Given the description of an element on the screen output the (x, y) to click on. 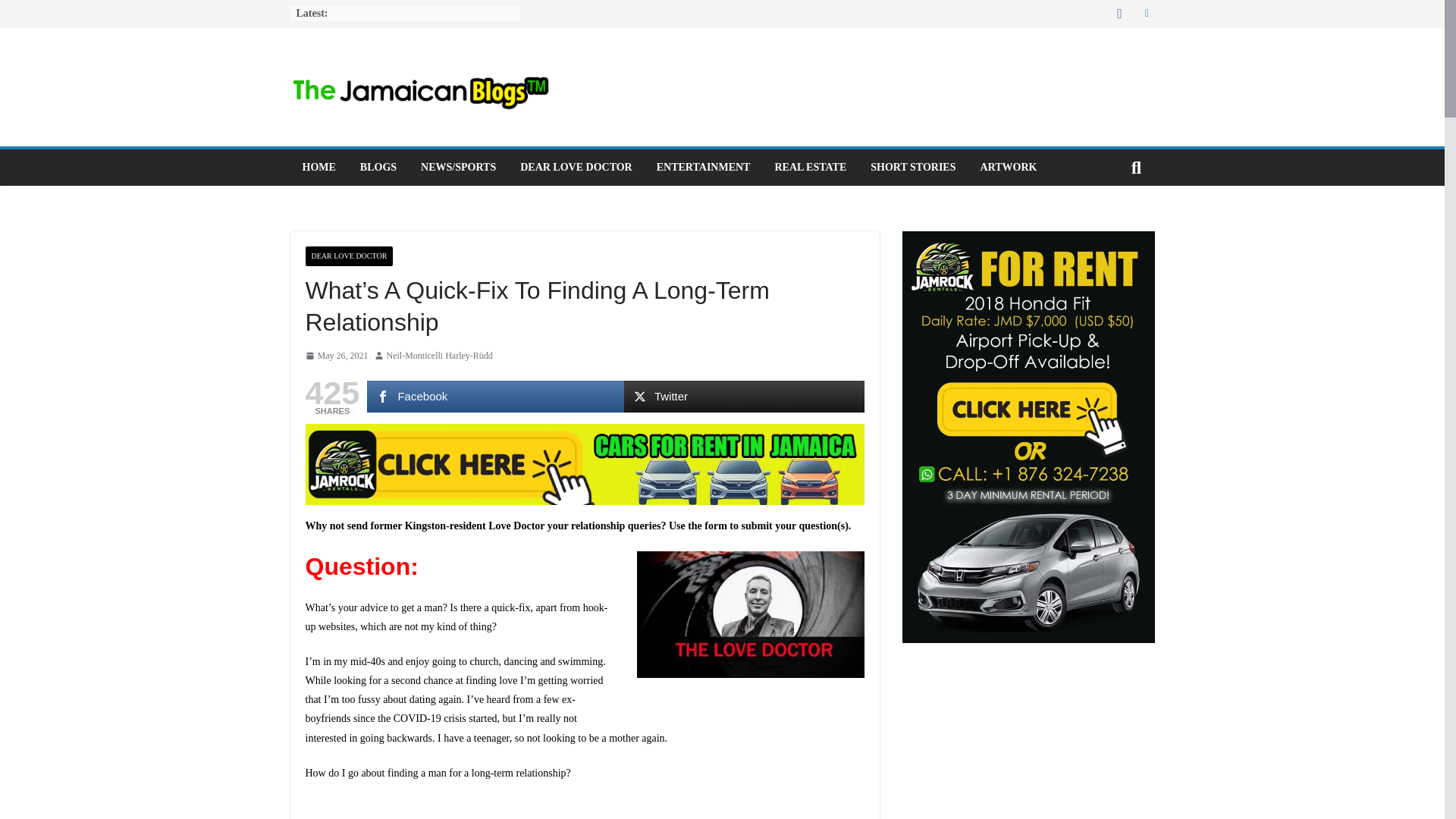
ENTERTAINMENT (703, 167)
ARTWORK (1007, 167)
A fine collection of stories written by Jamaicans (912, 167)
May 26, 2021 (336, 356)
HOME (317, 167)
SHORT STORIES (912, 167)
REAL ESTATE (809, 167)
Facebook (494, 396)
Twitter (744, 396)
6:59 AM (336, 356)
BLOGS (377, 167)
DEAR LOVE DOCTOR (348, 256)
DEAR LOVE DOCTOR (575, 167)
